Given the description of an element on the screen output the (x, y) to click on. 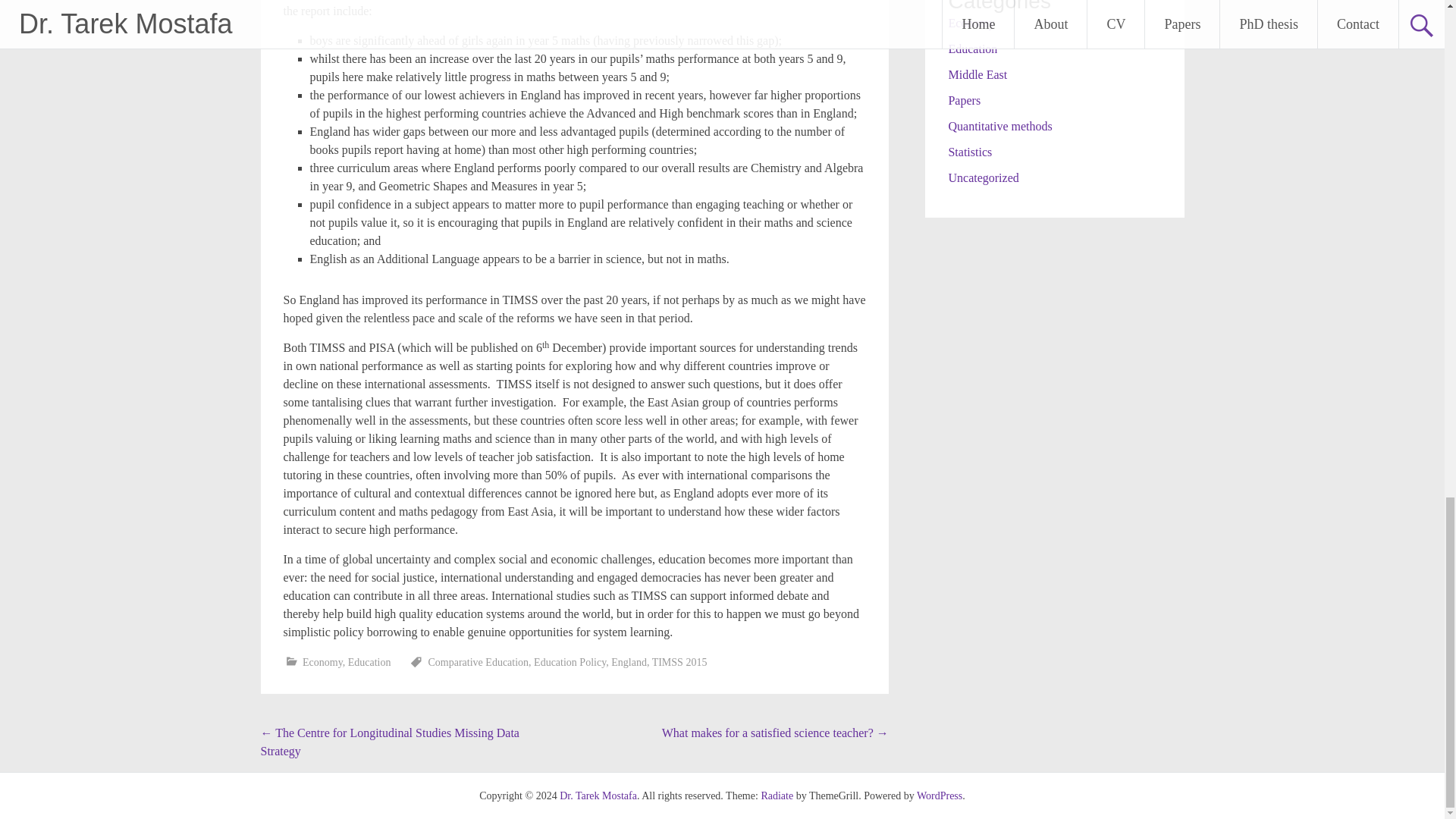
Education (369, 662)
TIMSS 2015 (679, 662)
Economy (322, 662)
Education Policy (569, 662)
Dr. Tarek Mostafa (598, 795)
Radiate (776, 795)
England (628, 662)
WordPress (939, 795)
Comparative Education (478, 662)
